Given the description of an element on the screen output the (x, y) to click on. 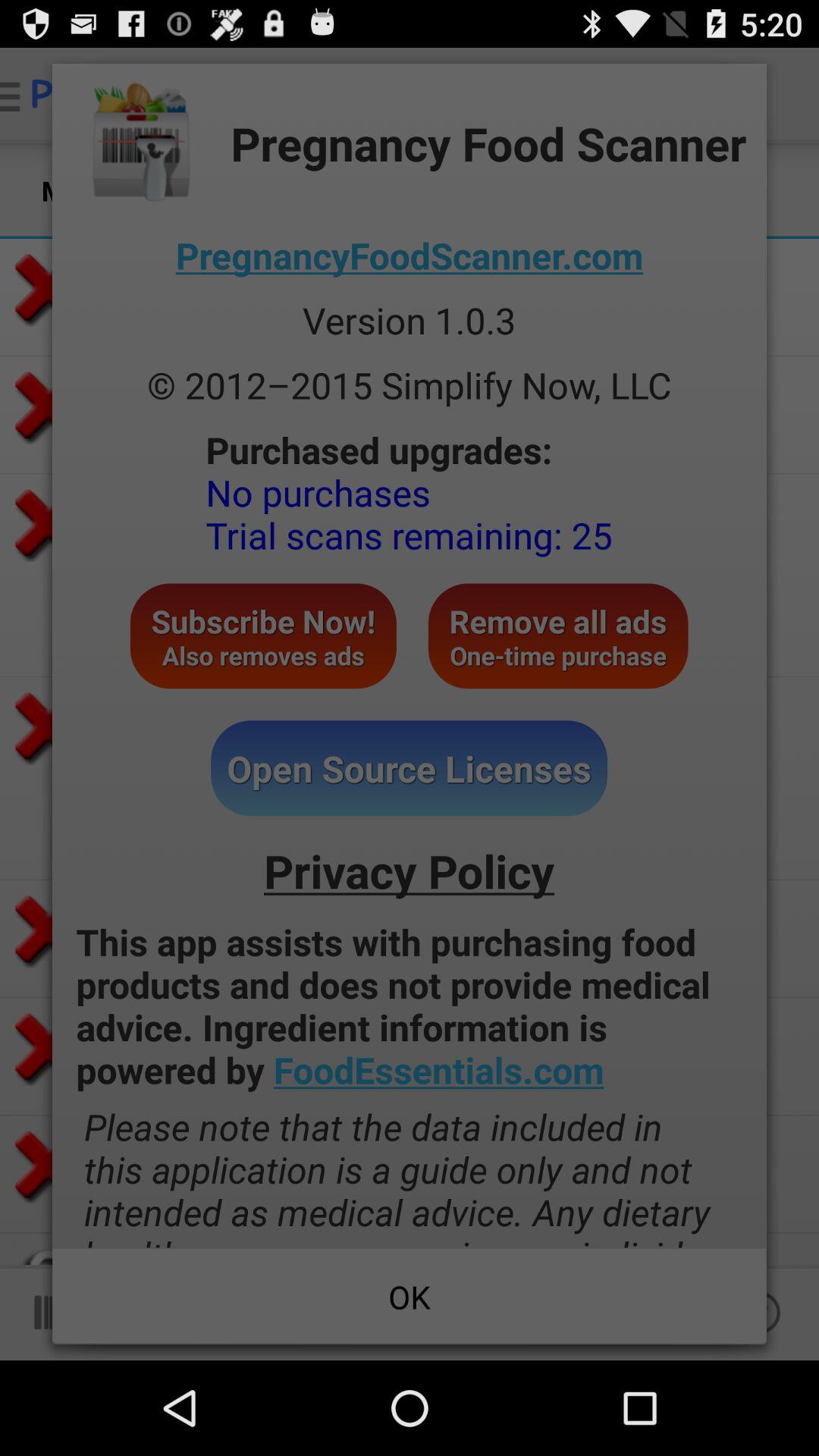
tap the button below the open source licenses item (408, 870)
